Given the description of an element on the screen output the (x, y) to click on. 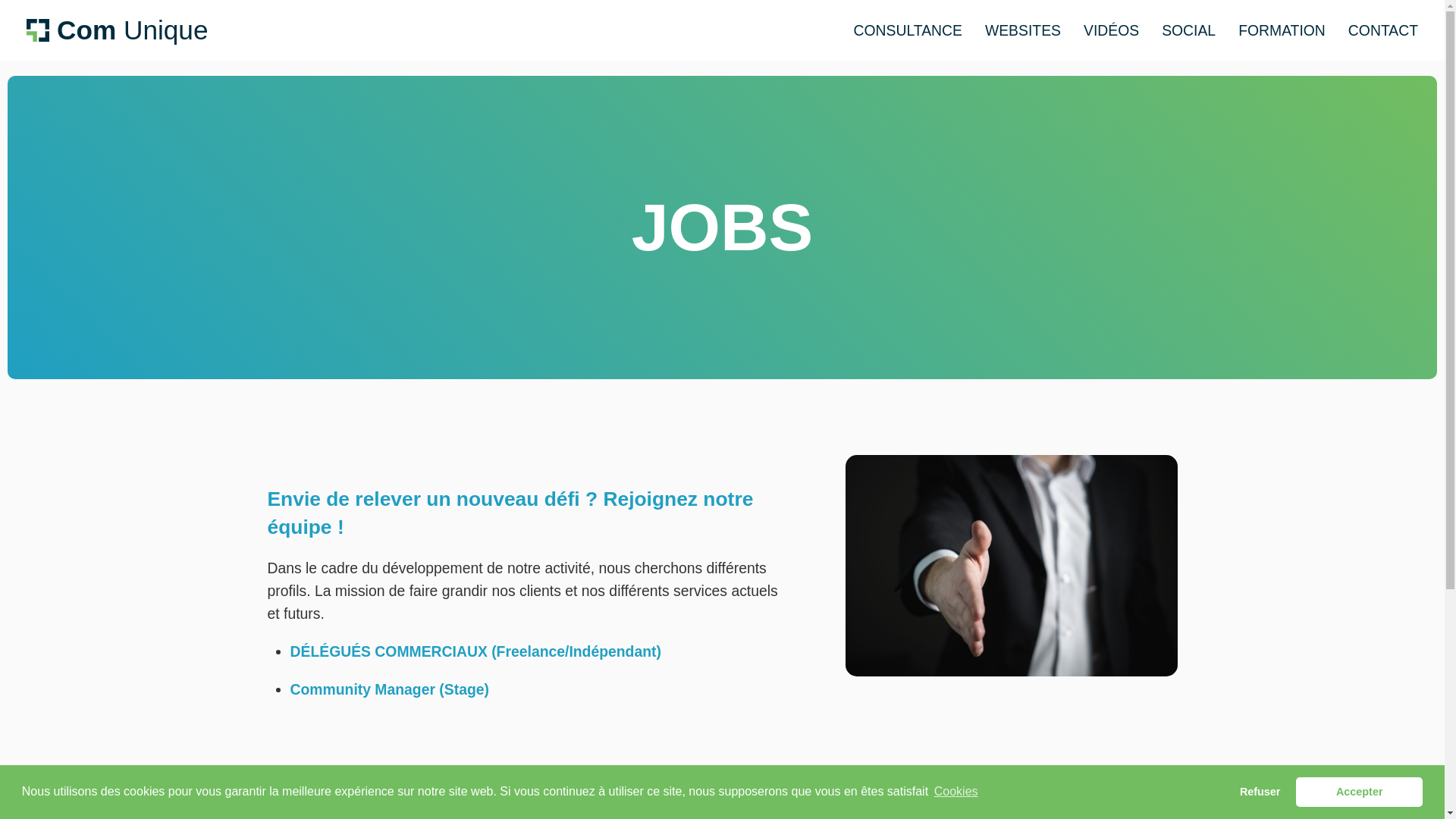
FORMATION Element type: text (1281, 30)
SOCIAL Element type: text (1188, 30)
Accepter Element type: text (1358, 791)
CONSULTANCE Element type: text (906, 30)
WEBSITES Element type: text (1022, 30)
Community Manager (Stage) Element type: text (388, 688)
Refuser Element type: text (1259, 791)
Cookies Element type: text (955, 791)
Com
 Unique Element type: text (117, 30)
CONTACT Element type: text (1382, 30)
